Given the description of an element on the screen output the (x, y) to click on. 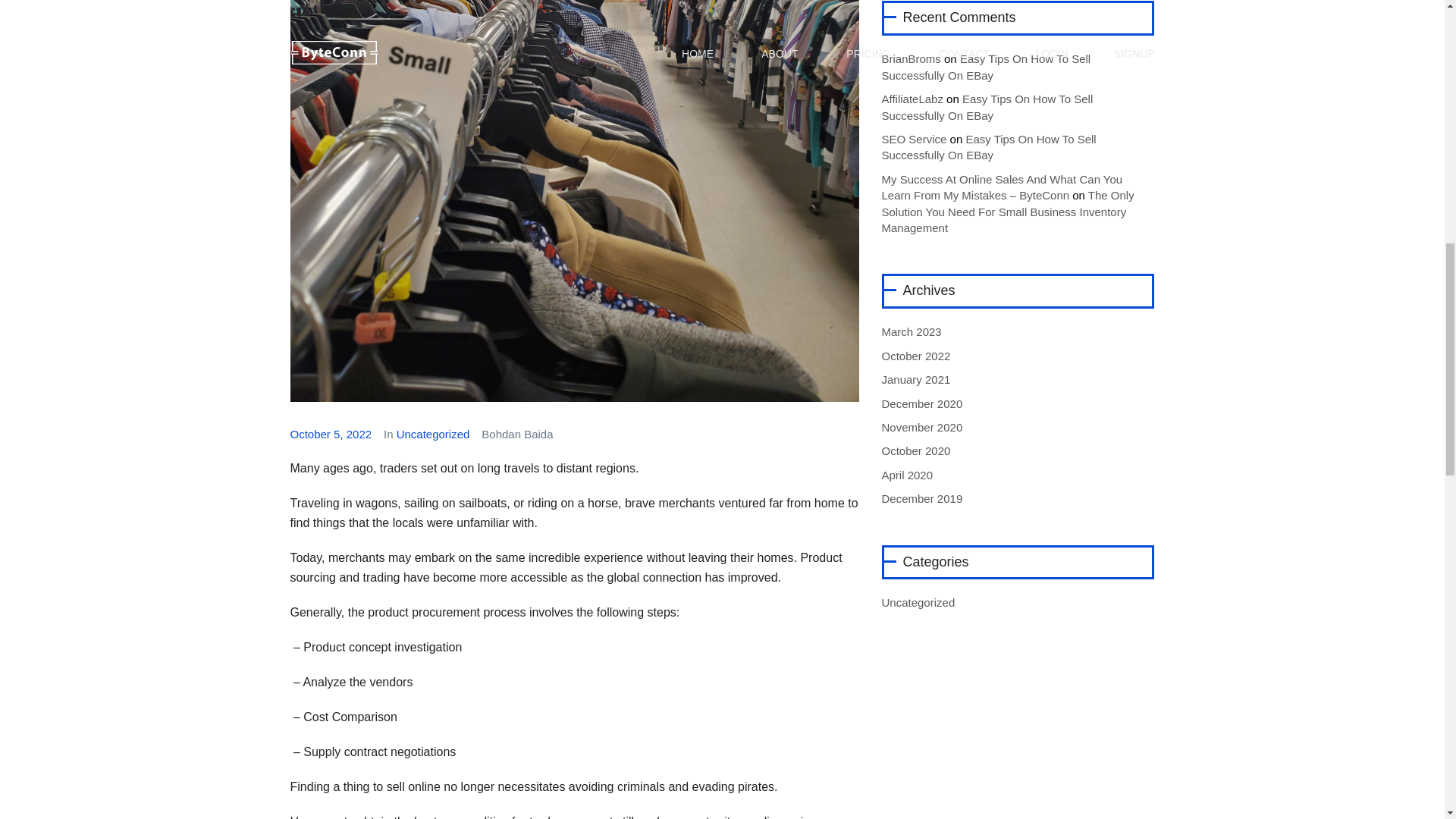
Easy Tips On How To Sell Successfully On EBay (986, 106)
AffiliateLabz (911, 98)
BrianBroms (910, 58)
October 5, 2022 (330, 433)
Easy Tips On How To Sell Successfully On EBay (988, 146)
SEO Service (913, 138)
Easy Tips On How To Sell Successfully On EBay (985, 66)
Uncategorized (433, 433)
